Given the description of an element on the screen output the (x, y) to click on. 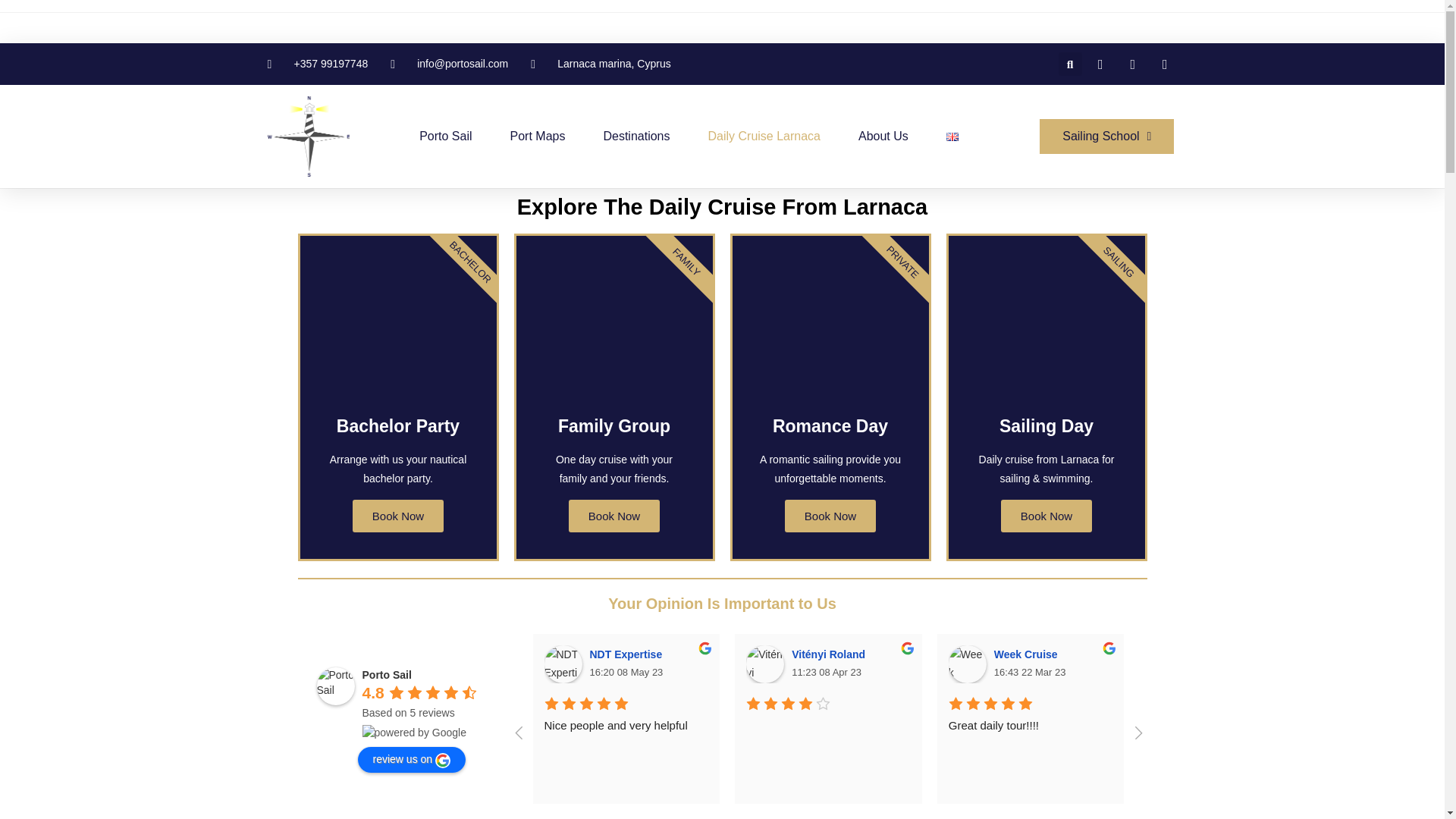
powered by Google (413, 732)
Book Now (830, 515)
Destinations (635, 135)
Port Maps (538, 135)
ARISTOTELIS MATTHAIOU (1371, 664)
About Us (883, 135)
Book Now (614, 515)
Daily Cruise Larnaca (764, 135)
Week Cruise (968, 664)
NDT Expertise (627, 654)
